Given the description of an element on the screen output the (x, y) to click on. 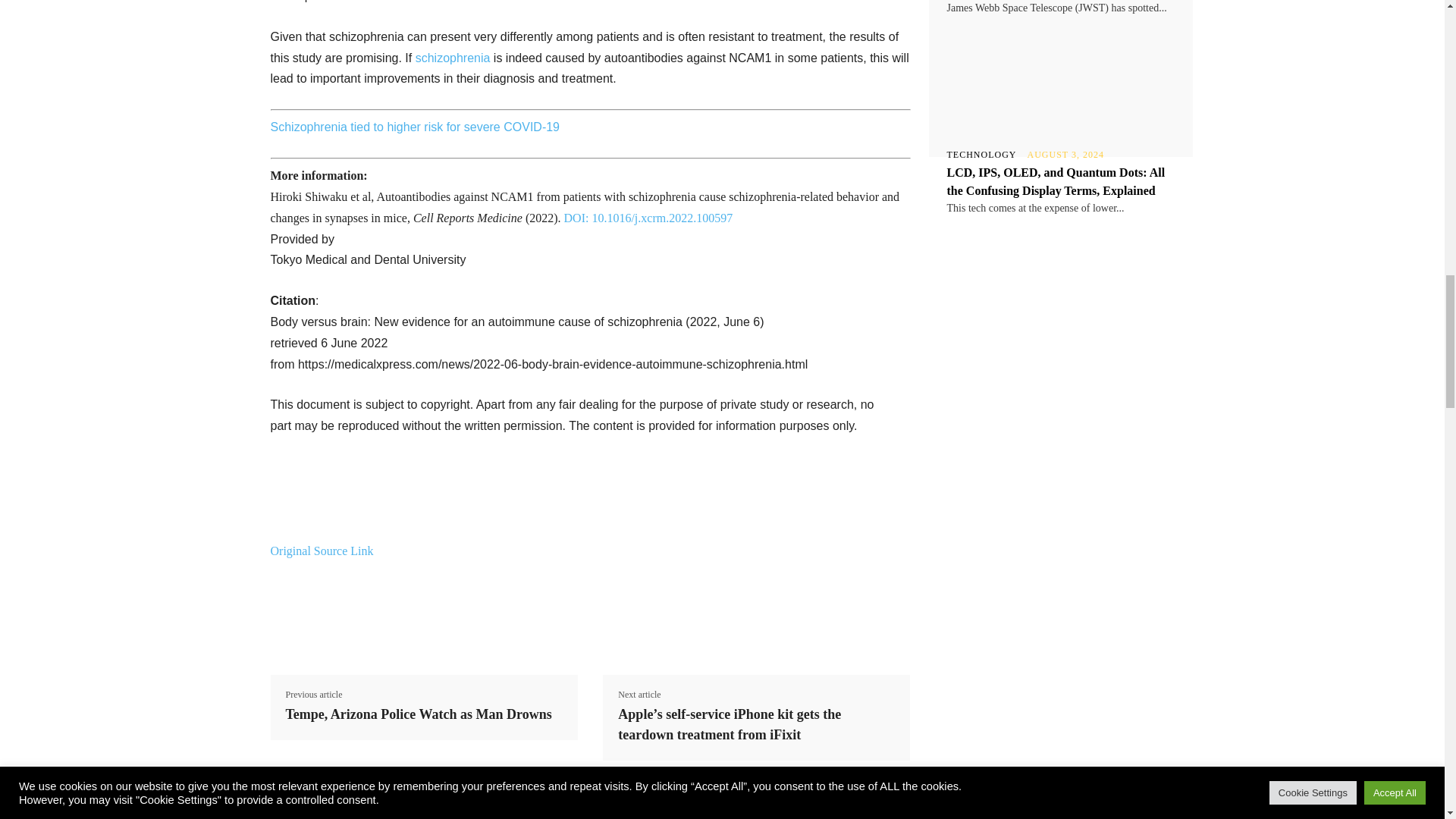
Schizophrenia tied to higher risk for severe COVID-19 (414, 126)
schizophrenia (452, 57)
Original Source Link (320, 550)
